Given the description of an element on the screen output the (x, y) to click on. 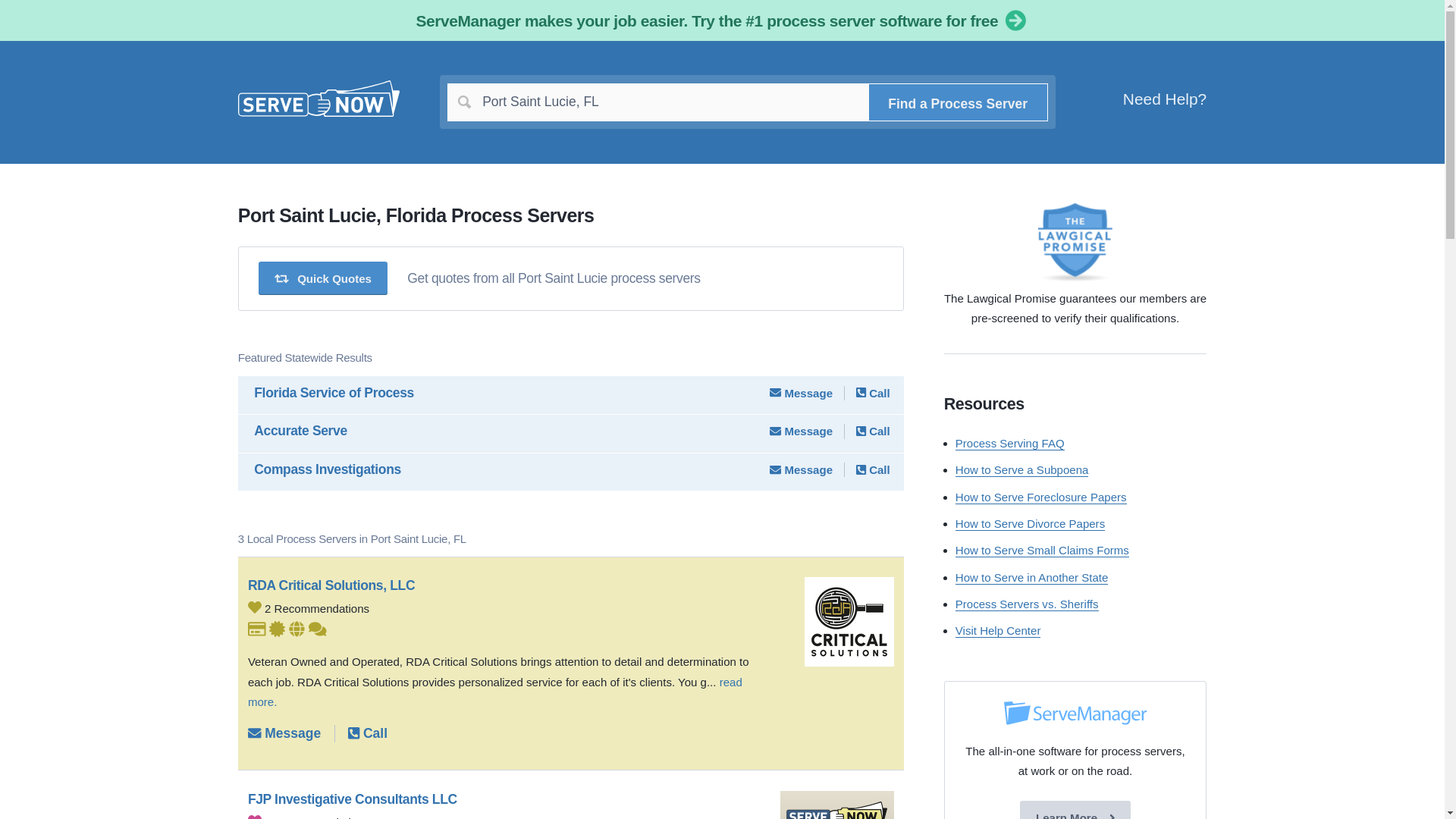
Call (872, 392)
Port Saint Lucie, FL (747, 101)
read more. (494, 691)
Website Available (296, 628)
Compass Investigations (327, 468)
FJP Investigative Consultants LLC (503, 799)
Need Help? (1164, 98)
Message (801, 392)
RDA Critical Solutions, LLC (503, 585)
Florida Service of Process (333, 392)
Service Guarantee (277, 628)
Quick Quotes (323, 277)
Message (801, 431)
Call (367, 733)
Message (801, 469)
